Given the description of an element on the screen output the (x, y) to click on. 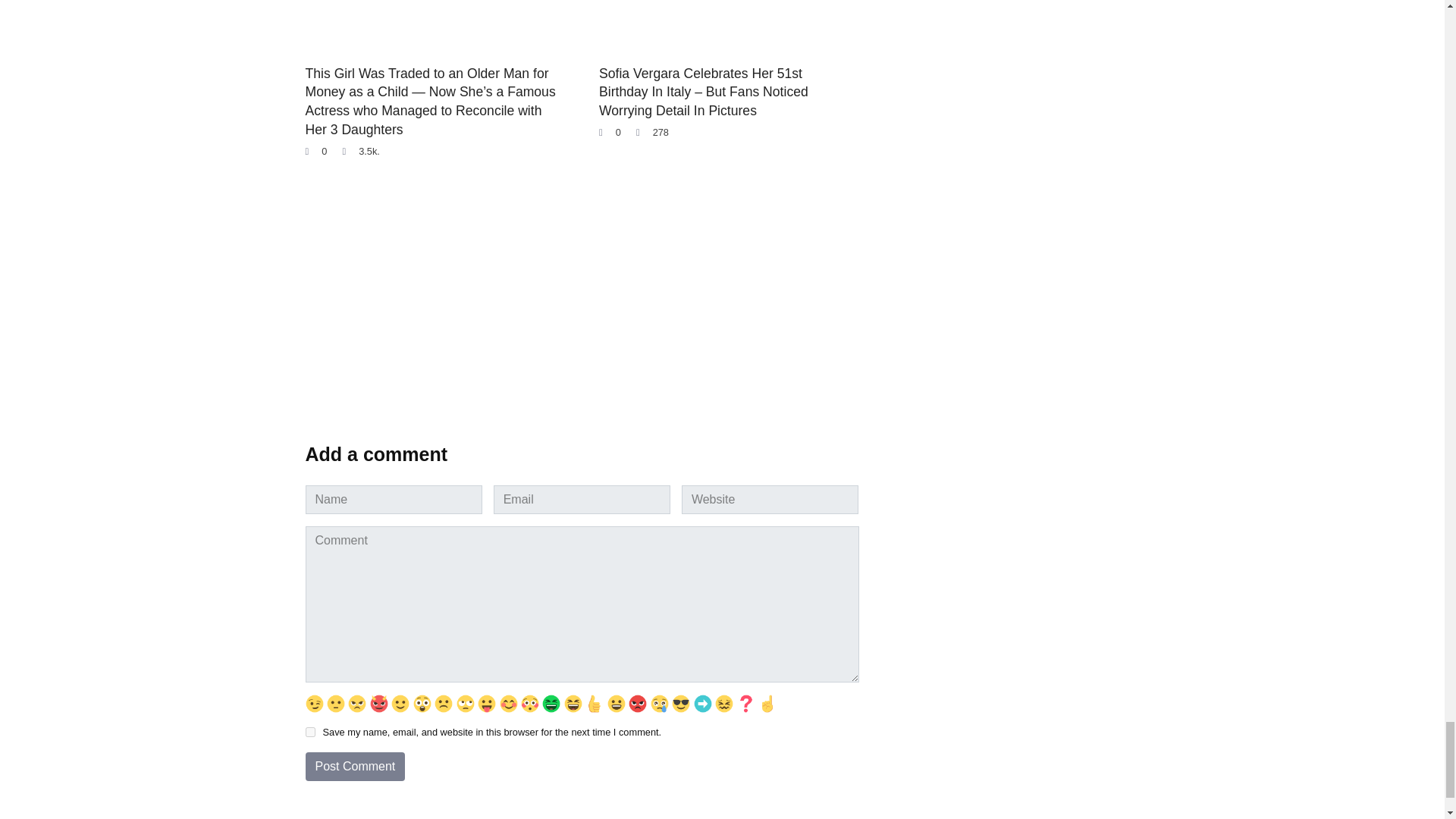
Post Comment (354, 766)
Post Comment (354, 766)
yes (309, 732)
